Given the description of an element on the screen output the (x, y) to click on. 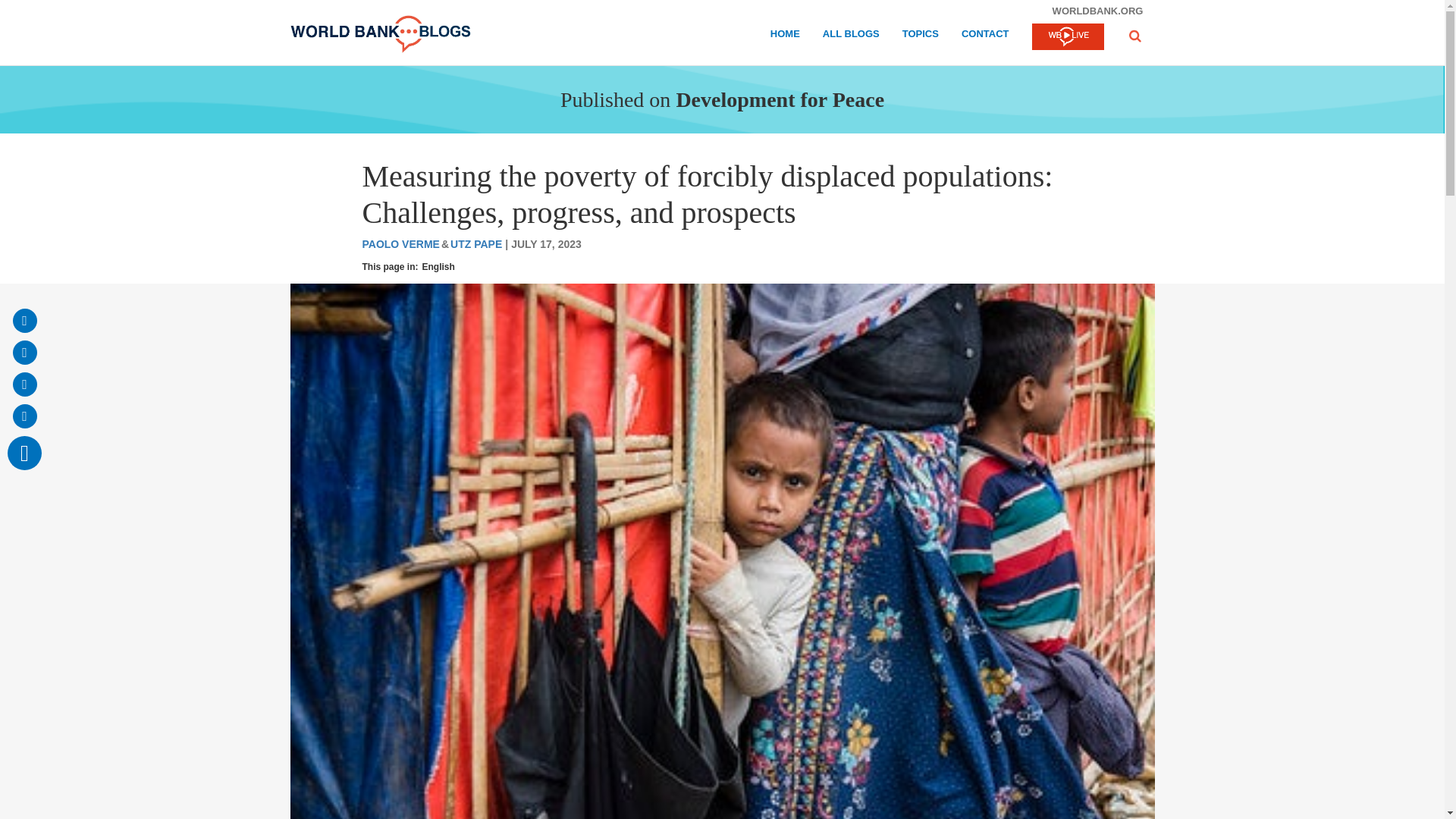
WORLDBANK.ORG (1097, 10)
TOPICS (920, 37)
English (438, 267)
linkedln (23, 416)
Tweet (23, 384)
Development for Peace (779, 99)
CONTACT (984, 37)
Email (23, 320)
WB Live Logo (1066, 36)
HOME (784, 37)
UTZ PAPE (475, 244)
comment (24, 452)
World Bank Blogs Logo (379, 34)
